Given the description of an element on the screen output the (x, y) to click on. 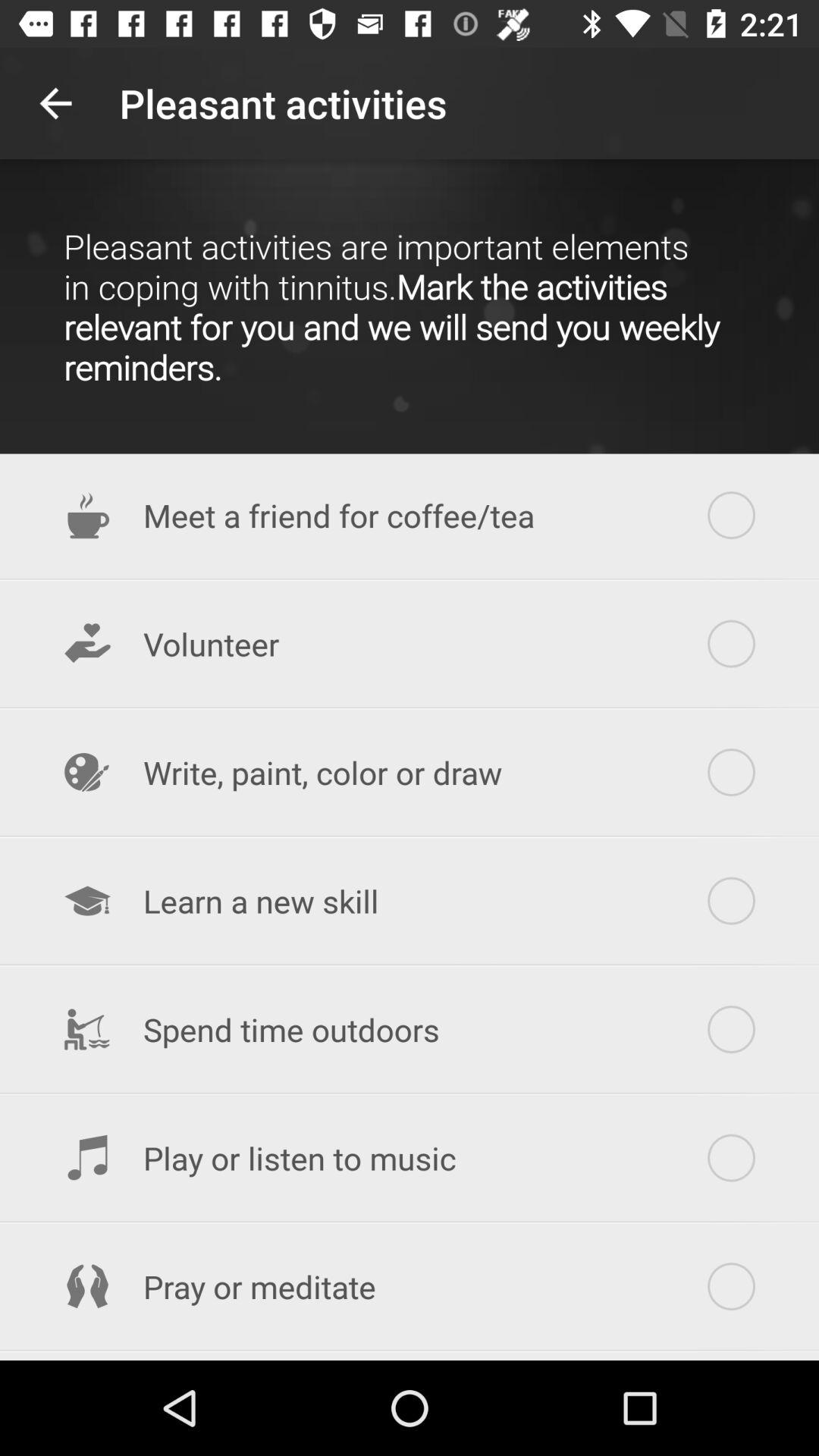
turn off the item at the top left corner (55, 103)
